Given the description of an element on the screen output the (x, y) to click on. 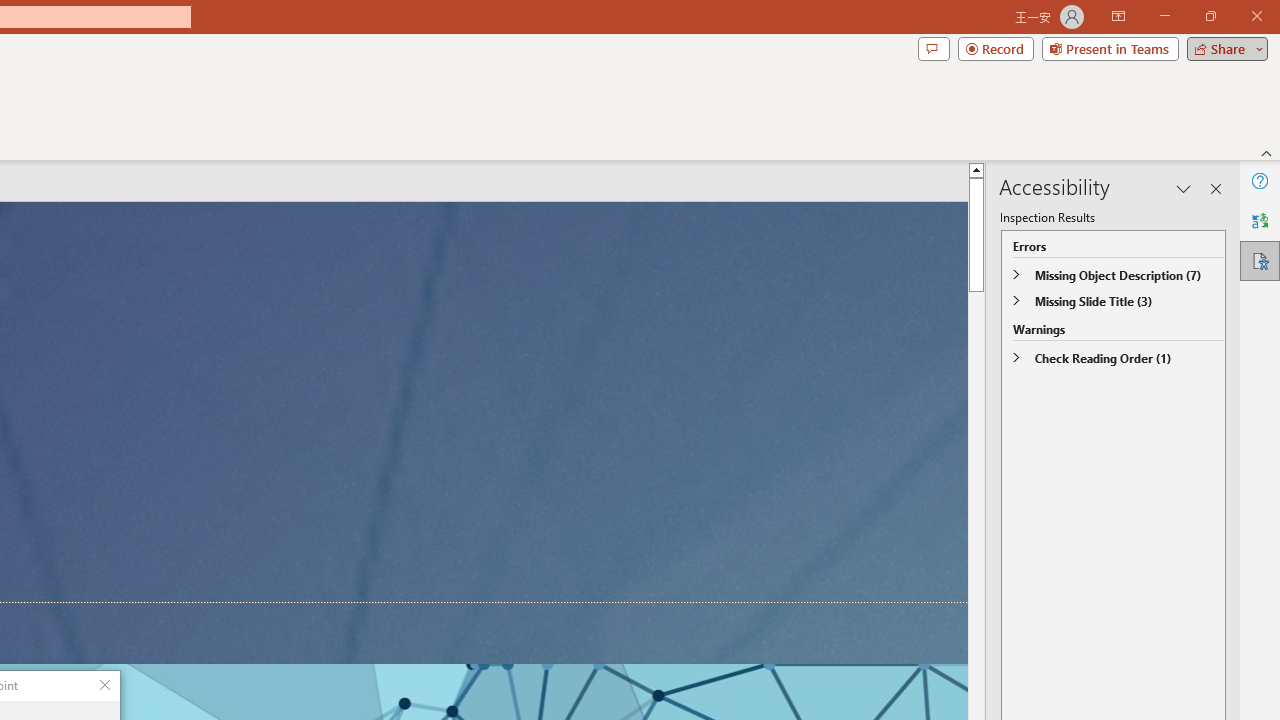
Translator (1260, 220)
